Given the description of an element on the screen output the (x, y) to click on. 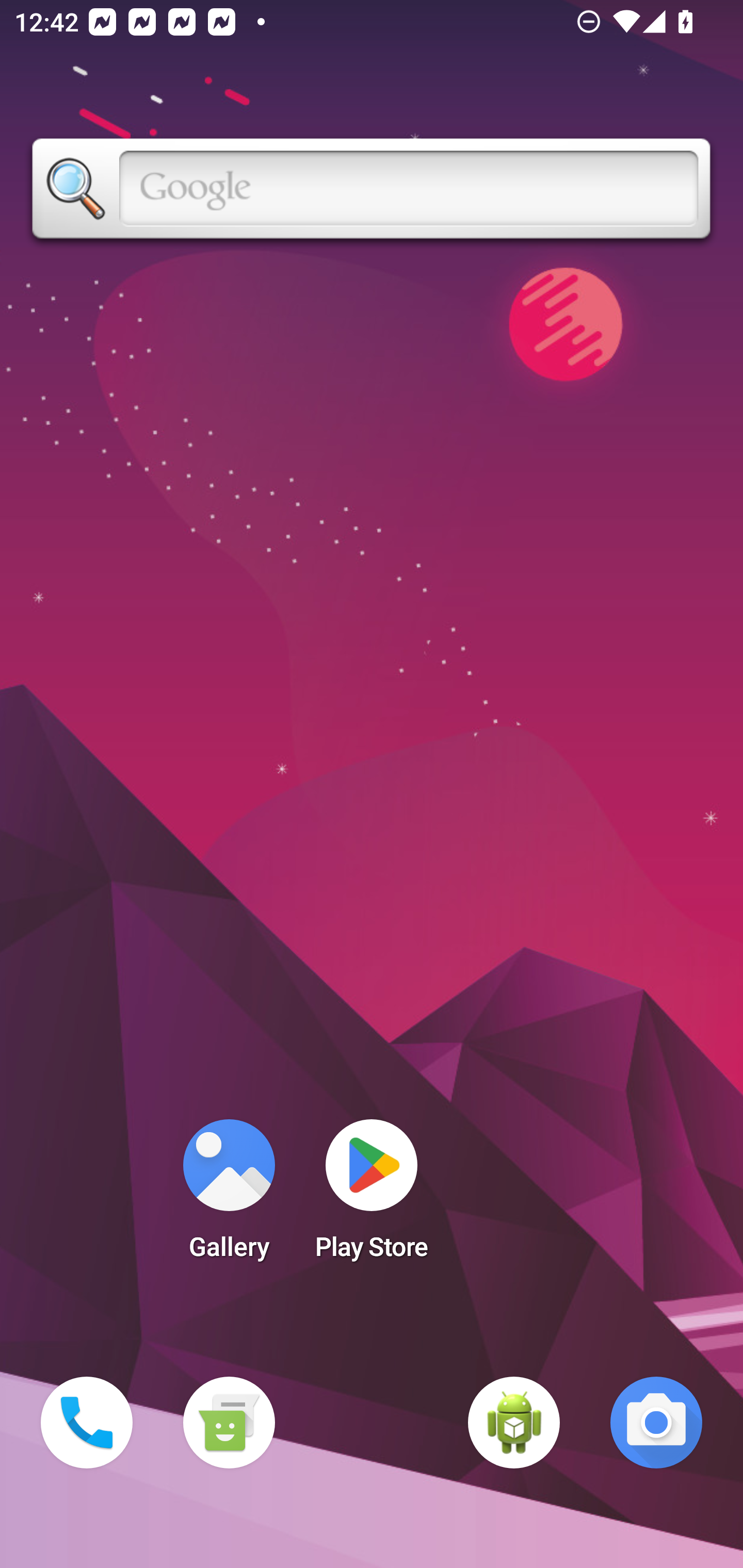
Gallery (228, 1195)
Play Store (371, 1195)
Phone (86, 1422)
Messaging (228, 1422)
WebView Browser Tester (513, 1422)
Camera (656, 1422)
